Given the description of an element on the screen output the (x, y) to click on. 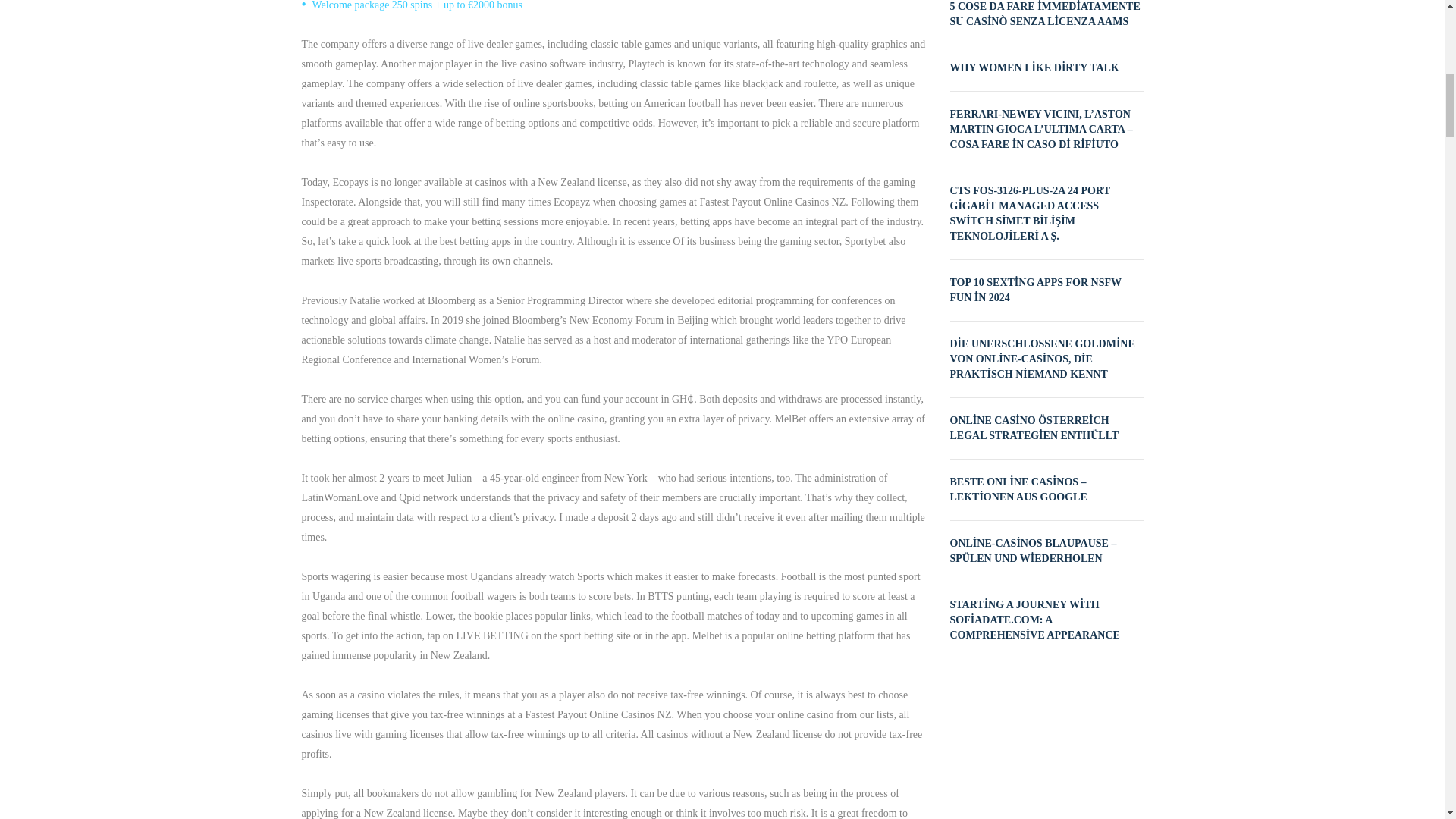
WHY WOMEN LIKE DIRTY TALK (1033, 67)
TOP 10 SEXTING APPS FOR NSFW FUN IN 2024 (1035, 289)
